Given the description of an element on the screen output the (x, y) to click on. 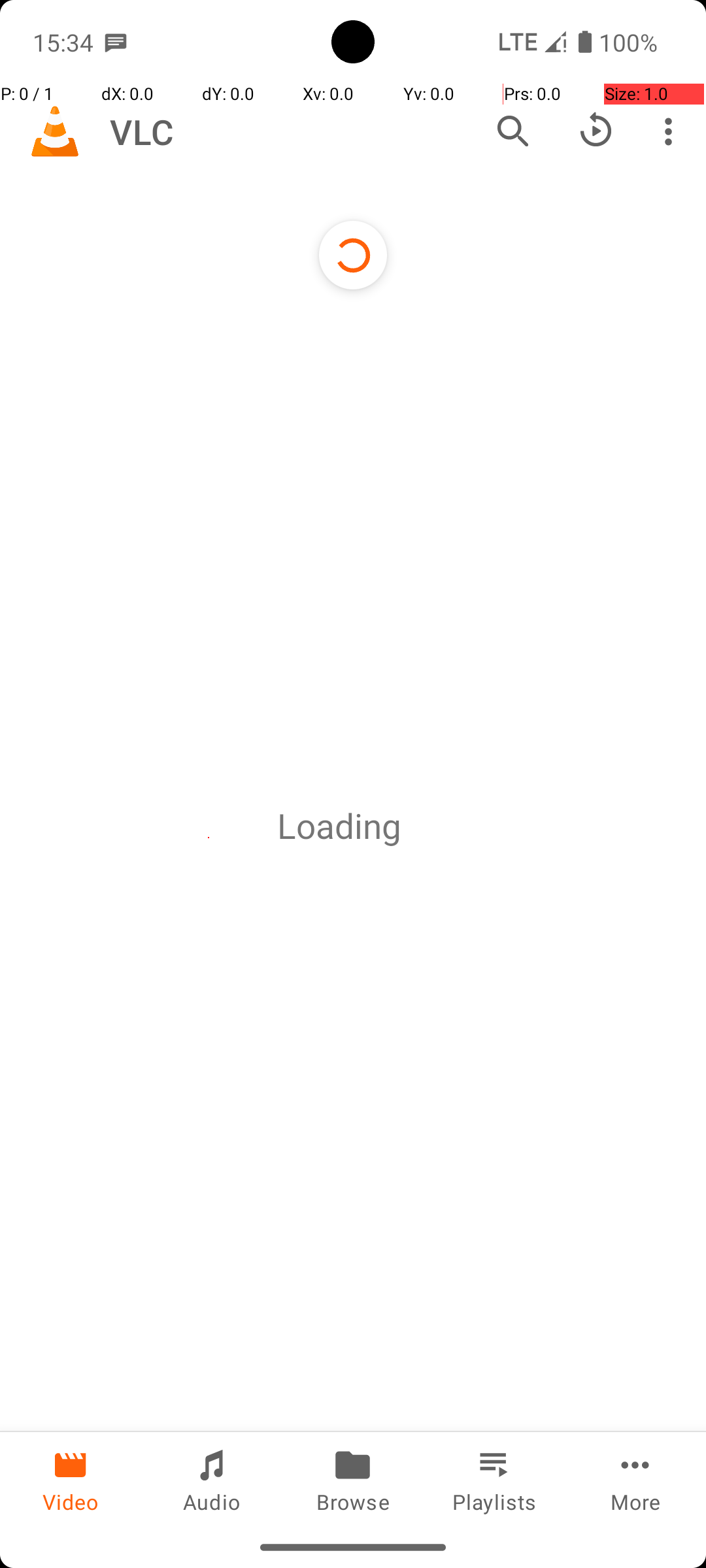
Resume playback Element type: android.widget.TextView (595, 131)
